Given the description of an element on the screen output the (x, y) to click on. 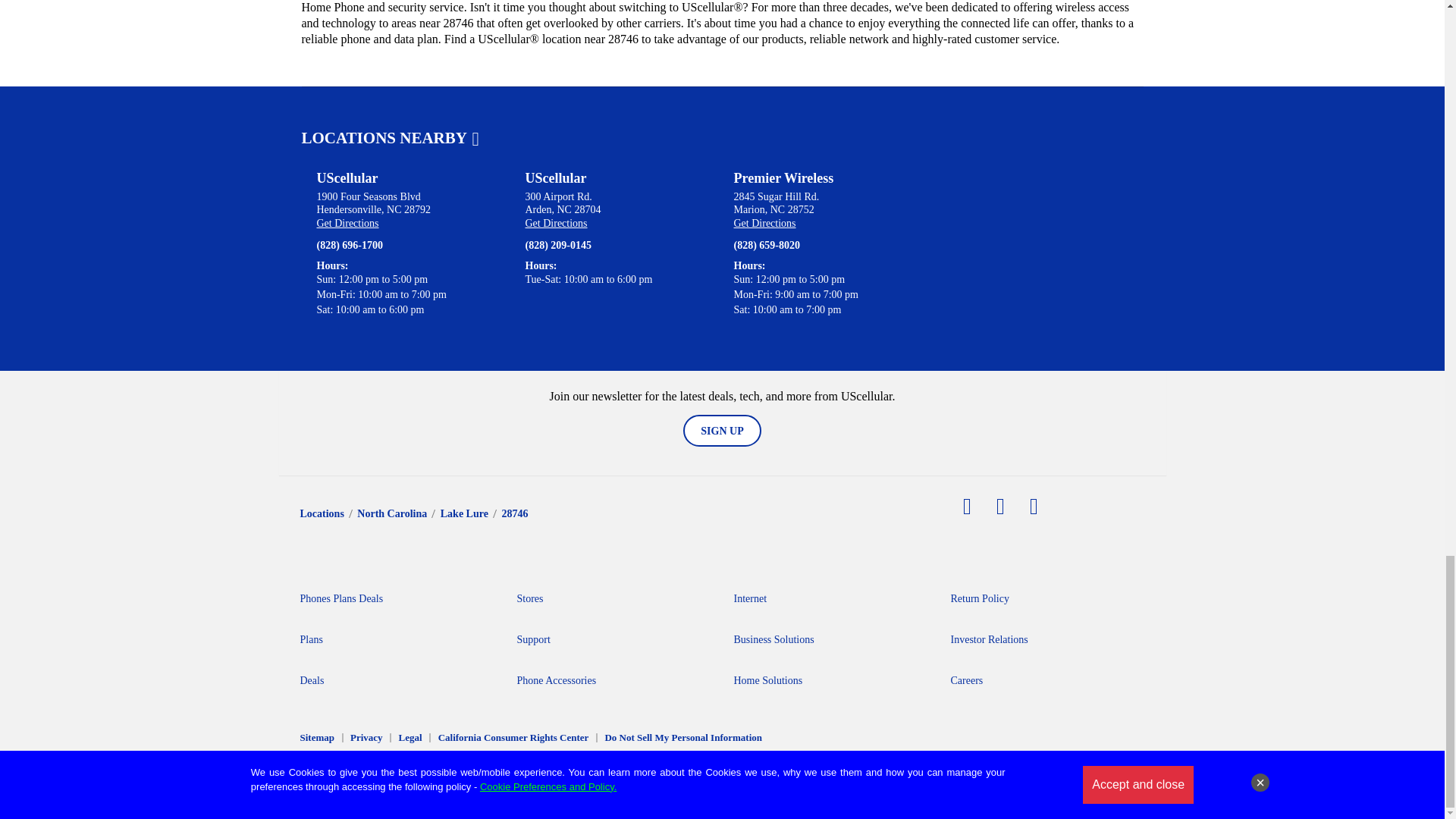
LOCATIONS NEARBY (390, 137)
Get Directions (347, 223)
UScellular (347, 178)
